Given the description of an element on the screen output the (x, y) to click on. 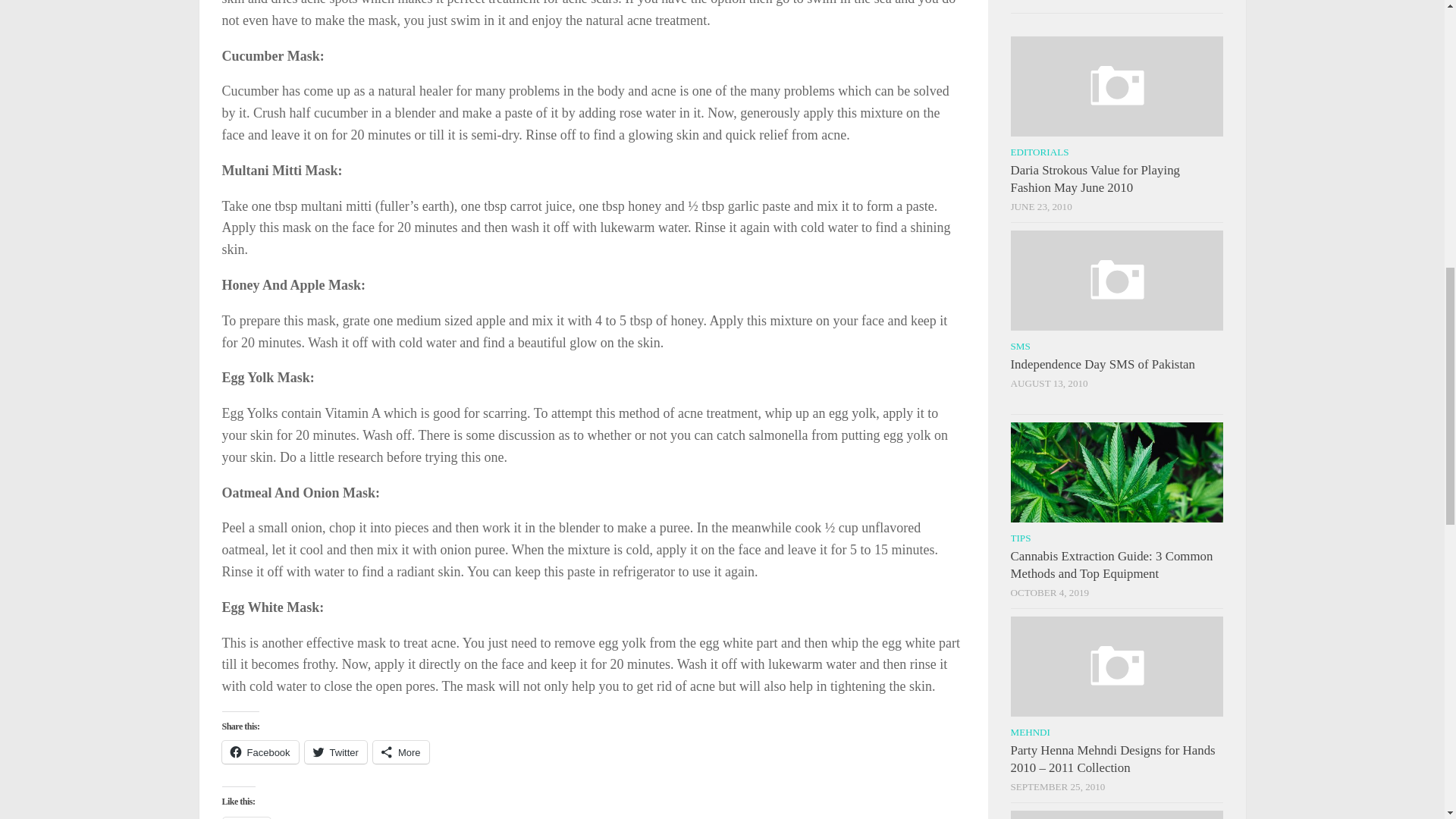
Click to share on Facebook (259, 752)
Click to share on Twitter (335, 752)
Facebook (259, 752)
More (400, 752)
Twitter (335, 752)
